Given the description of an element on the screen output the (x, y) to click on. 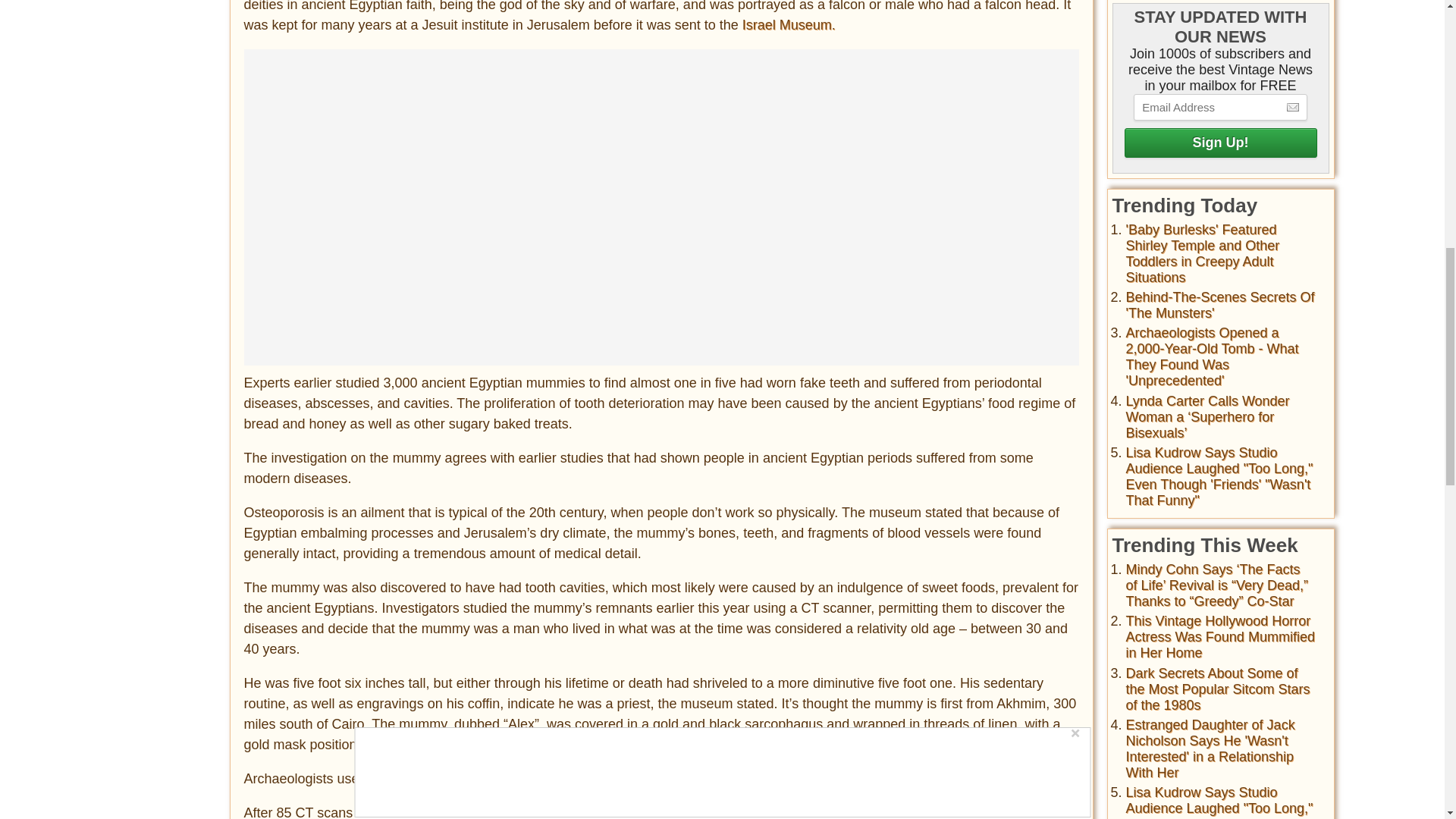
Sign Up! (1220, 142)
